Given the description of an element on the screen output the (x, y) to click on. 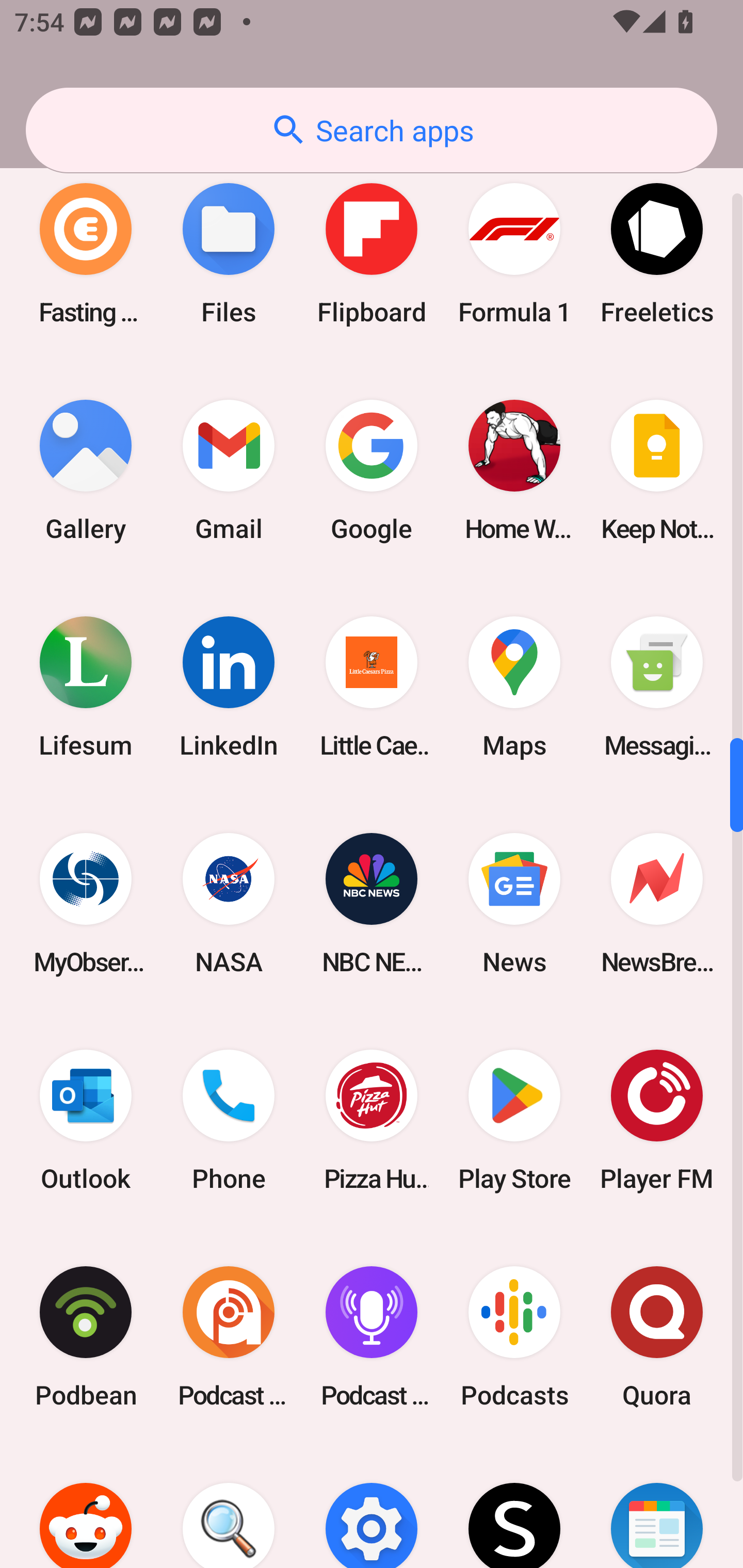
  Search apps (371, 130)
Fasting Coach (85, 253)
Files (228, 253)
Flipboard (371, 253)
Formula 1 (514, 253)
Freeletics (656, 253)
Gallery (85, 470)
Gmail (228, 470)
Google (371, 470)
Home Workout (514, 470)
Keep Notes (656, 470)
Lifesum (85, 686)
LinkedIn (228, 686)
Little Caesars Pizza (371, 686)
Maps (514, 686)
Messaging (656, 686)
MyObservatory (85, 902)
NASA (228, 902)
NBC NEWS (371, 902)
News (514, 902)
NewsBreak (656, 902)
Outlook (85, 1120)
Phone (228, 1120)
Pizza Hut HK & Macau (371, 1120)
Play Store (514, 1120)
Player FM (656, 1120)
Podbean (85, 1337)
Podcast Addict (228, 1337)
Podcast Player (371, 1337)
Podcasts (514, 1337)
Quora (656, 1337)
Reddit (85, 1506)
Search (228, 1506)
Settings (371, 1506)
SHEIN (514, 1506)
SmartNews (656, 1506)
